Given the description of an element on the screen output the (x, y) to click on. 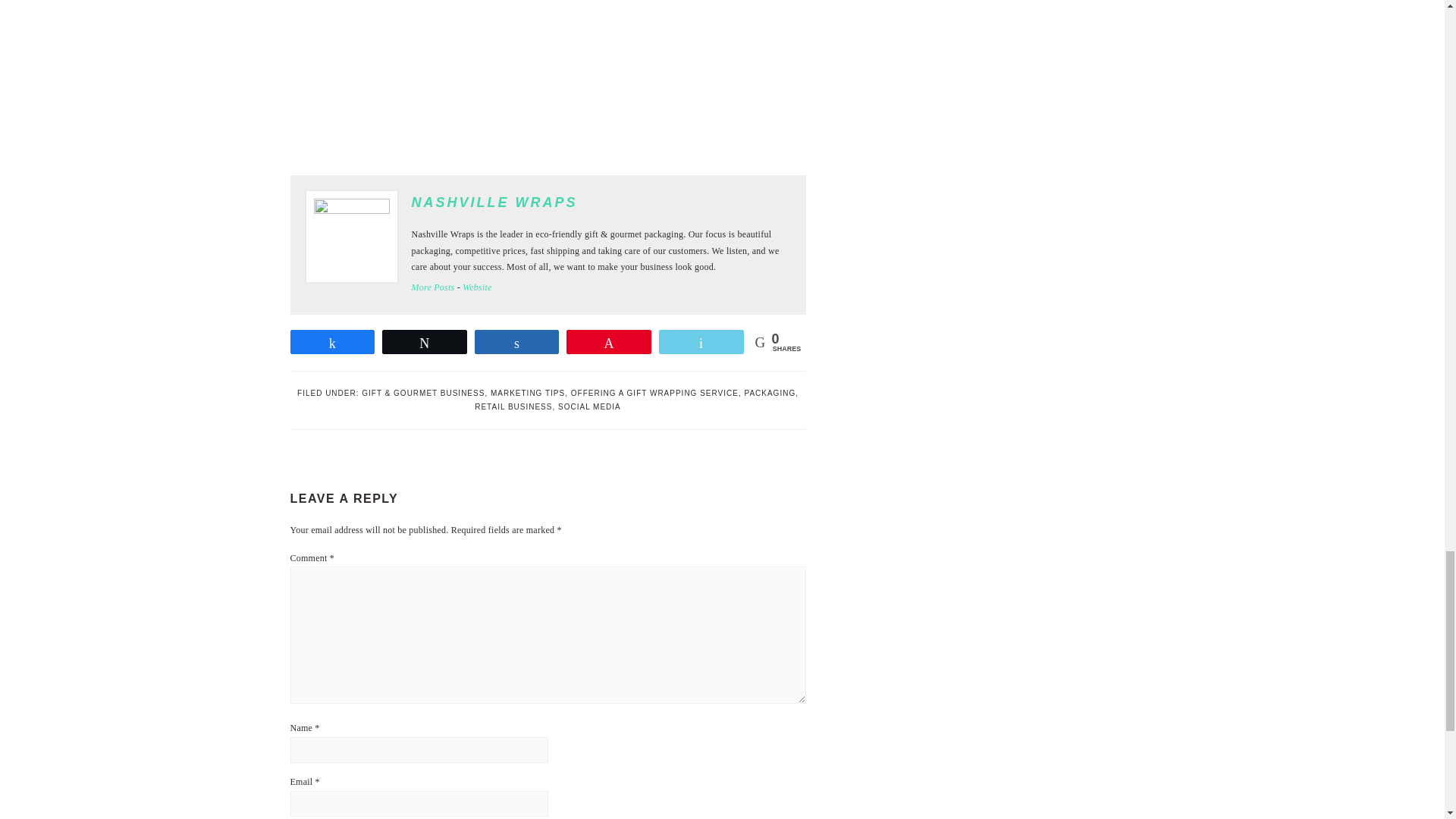
More posts by Nashville Wraps (432, 286)
Nashville Wraps (477, 286)
Nashville Wraps (493, 201)
